Given the description of an element on the screen output the (x, y) to click on. 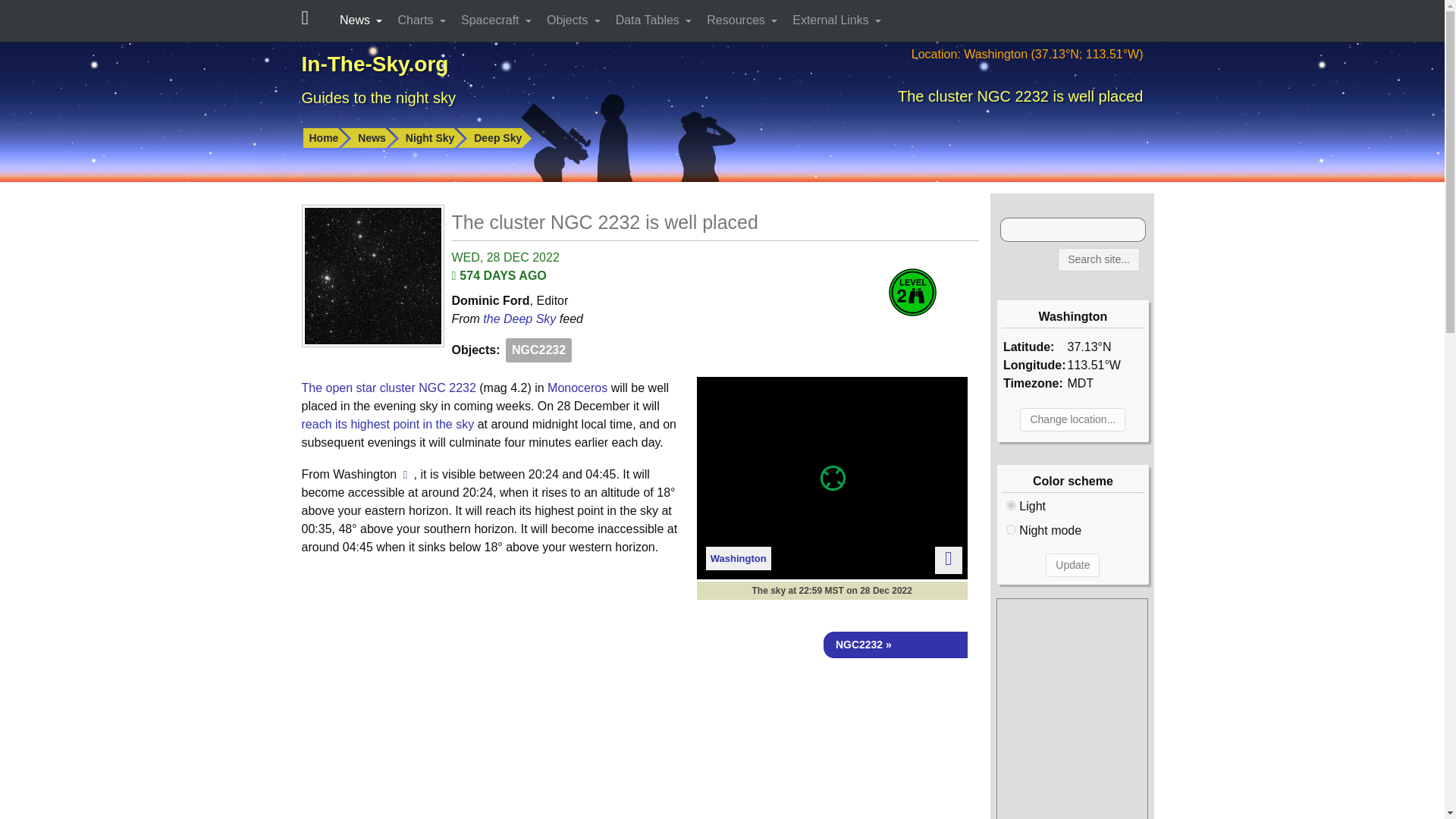
In-The-Sky.org (374, 64)
Search site... (1099, 259)
1 (1011, 529)
Advertisement (639, 745)
Night Sky (432, 137)
0 (1011, 505)
Update (1072, 565)
Change location... (1072, 419)
Home (326, 137)
News (362, 20)
Guides to the night sky (378, 97)
Deep Sky (500, 137)
News (374, 137)
Charts (422, 20)
